Given the description of an element on the screen output the (x, y) to click on. 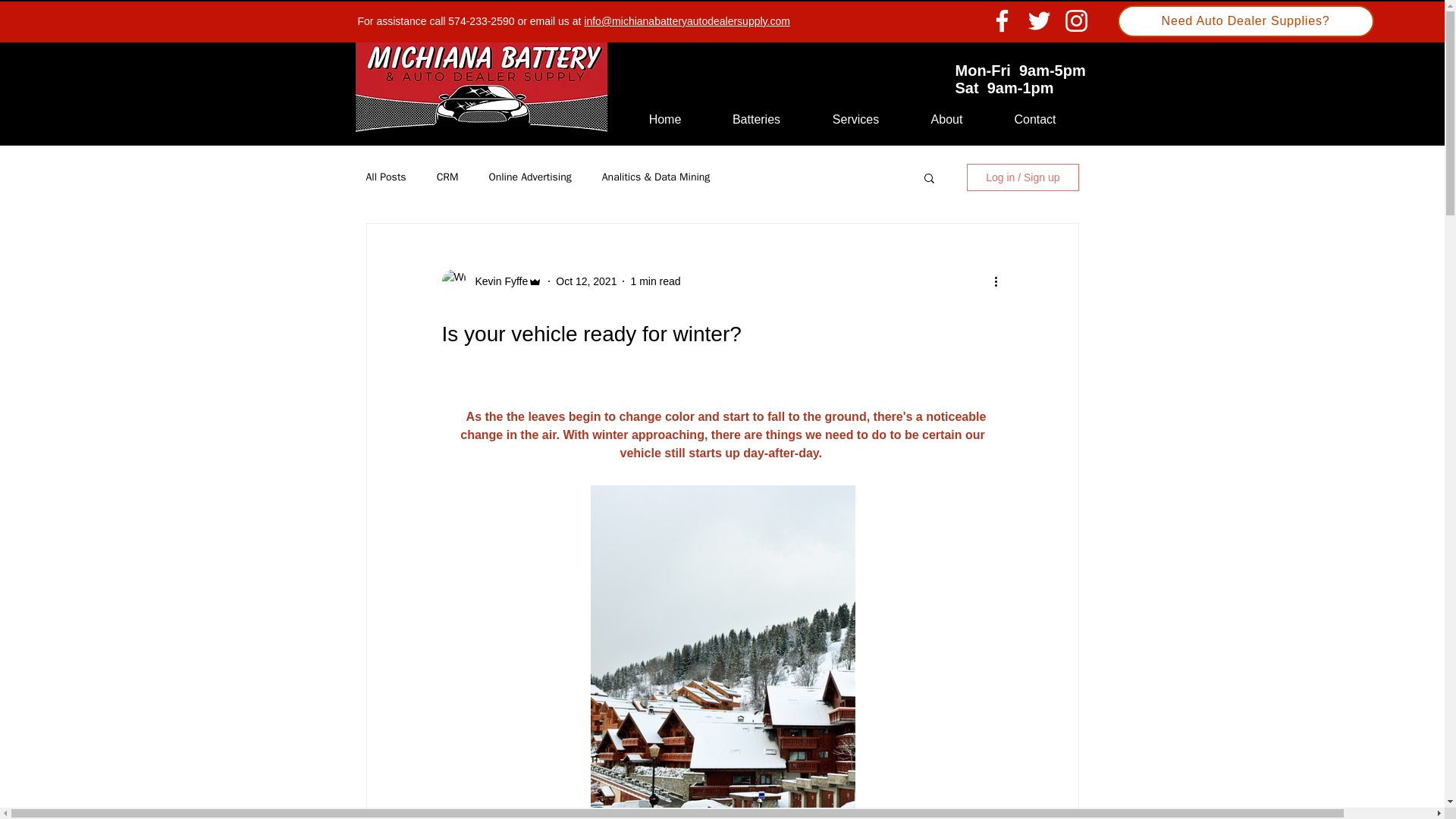
CRM (447, 177)
Oct 12, 2021 (585, 280)
Services (855, 119)
Batteries (756, 119)
Contact (1034, 119)
About (946, 119)
All Posts (385, 177)
Home (664, 119)
Kevin Fyffe (496, 280)
Need Auto Dealer Supplies? (1246, 20)
